Given the description of an element on the screen output the (x, y) to click on. 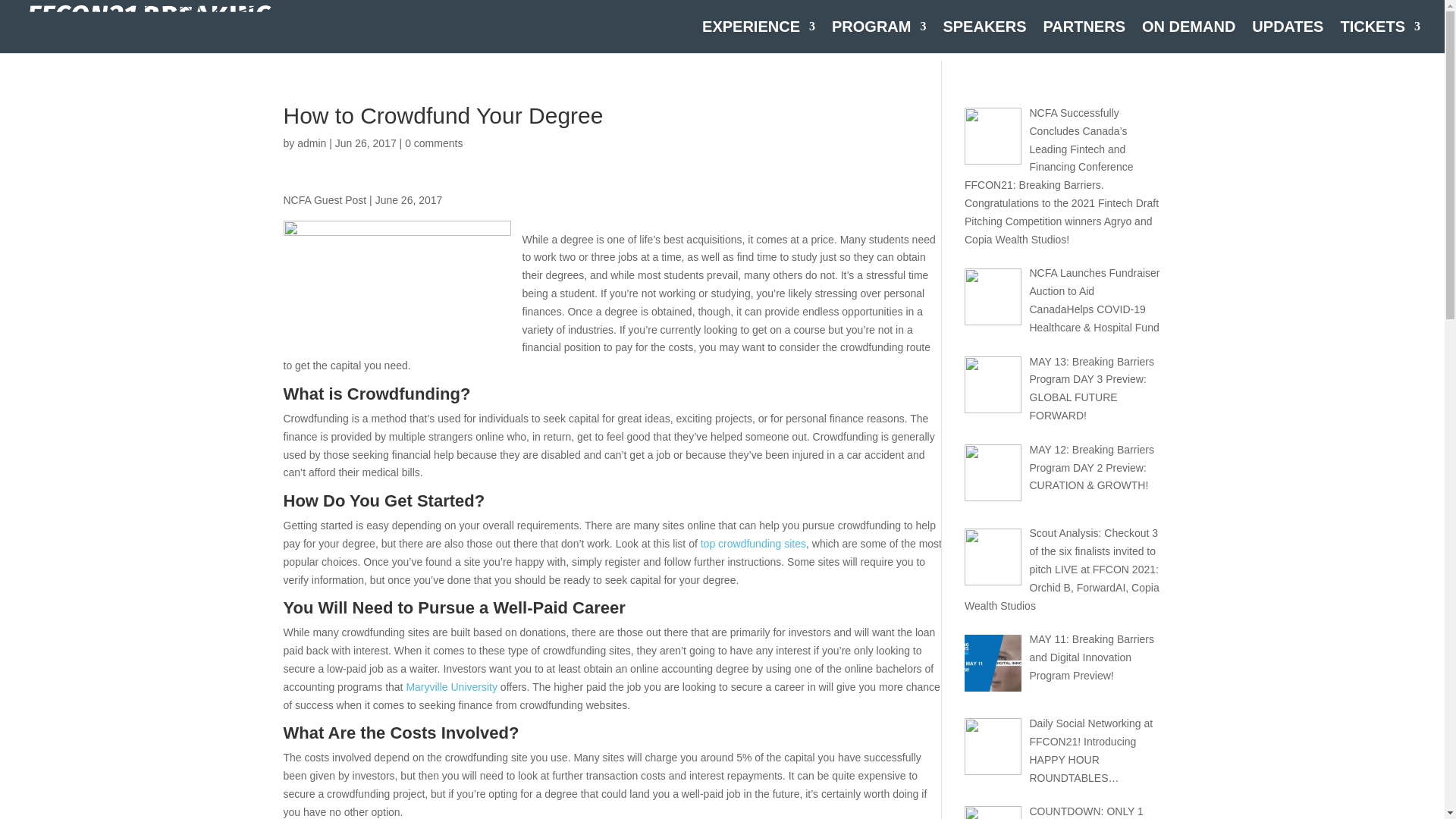
UPDATES (1287, 37)
top crowdfunding sites (753, 543)
SPEAKERS (984, 37)
Posts by admin (311, 143)
admin (311, 143)
PARTNERS (1083, 37)
TICKETS (1380, 37)
Maryville University (451, 686)
ON DEMAND (1187, 37)
EXPERIENCE (758, 37)
0 comments (433, 143)
PROGRAM (878, 37)
